Given the description of an element on the screen output the (x, y) to click on. 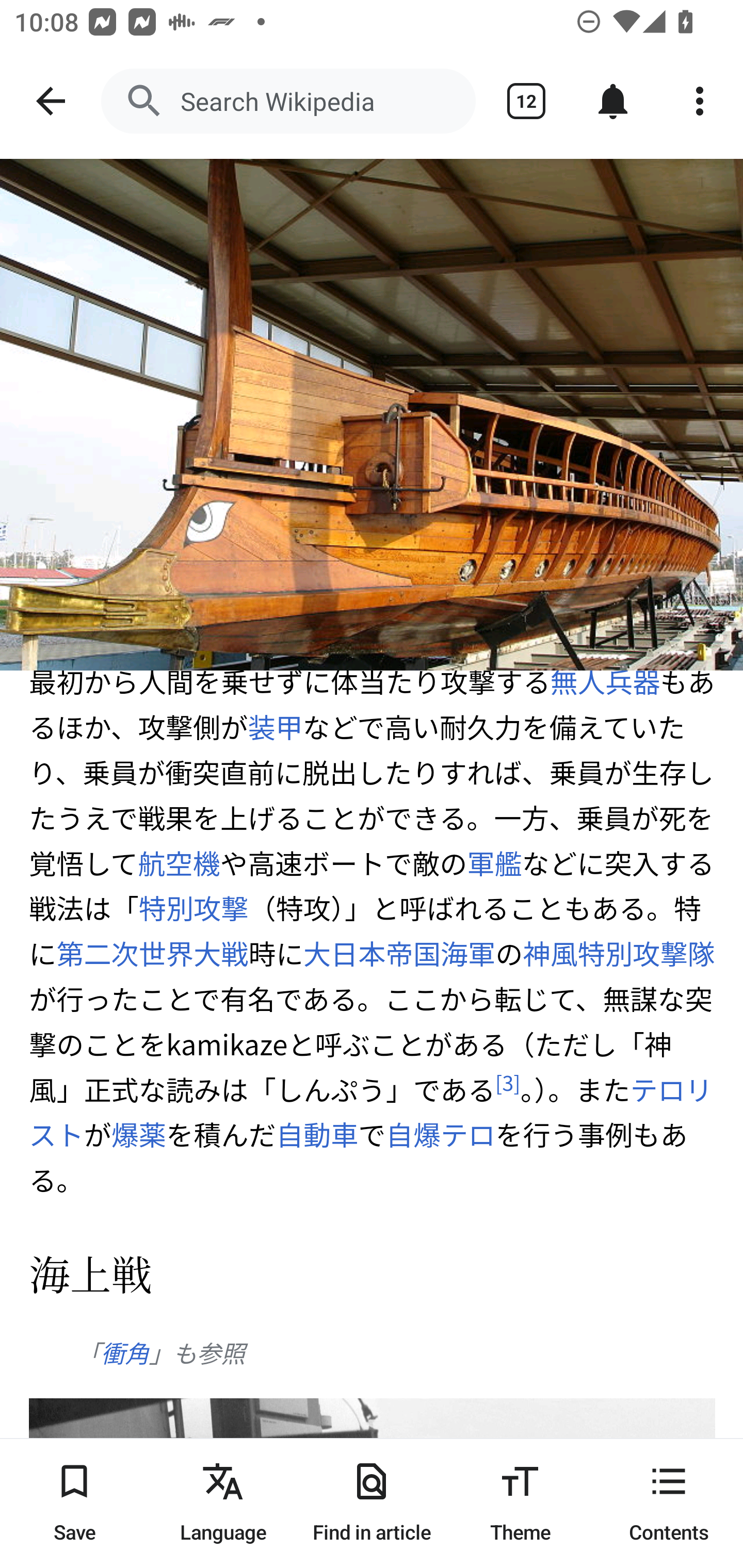
Show tabs 12 (525, 100)
Notifications (612, 100)
Navigate up (50, 101)
More options (699, 101)
Search Wikipedia (288, 100)
Image: 体当たり攻撃 (371, 414)
無人兵器 (605, 681)
装甲 (275, 726)
航空機 (179, 862)
軍艦 (494, 862)
特別攻撃 (192, 907)
第二次世界大戦 (151, 953)
大日本帝国海軍 (398, 953)
神風特別攻撃隊 (618, 953)
[] [ 3 ] (507, 1081)
テロリスト (370, 1112)
爆薬 (138, 1134)
自動車 (316, 1134)
自爆テロ (440, 1134)
衝角 (123, 1353)
Save (74, 1502)
Language (222, 1502)
Find in article (371, 1502)
Theme (519, 1502)
Contents (668, 1502)
